Given the description of an element on the screen output the (x, y) to click on. 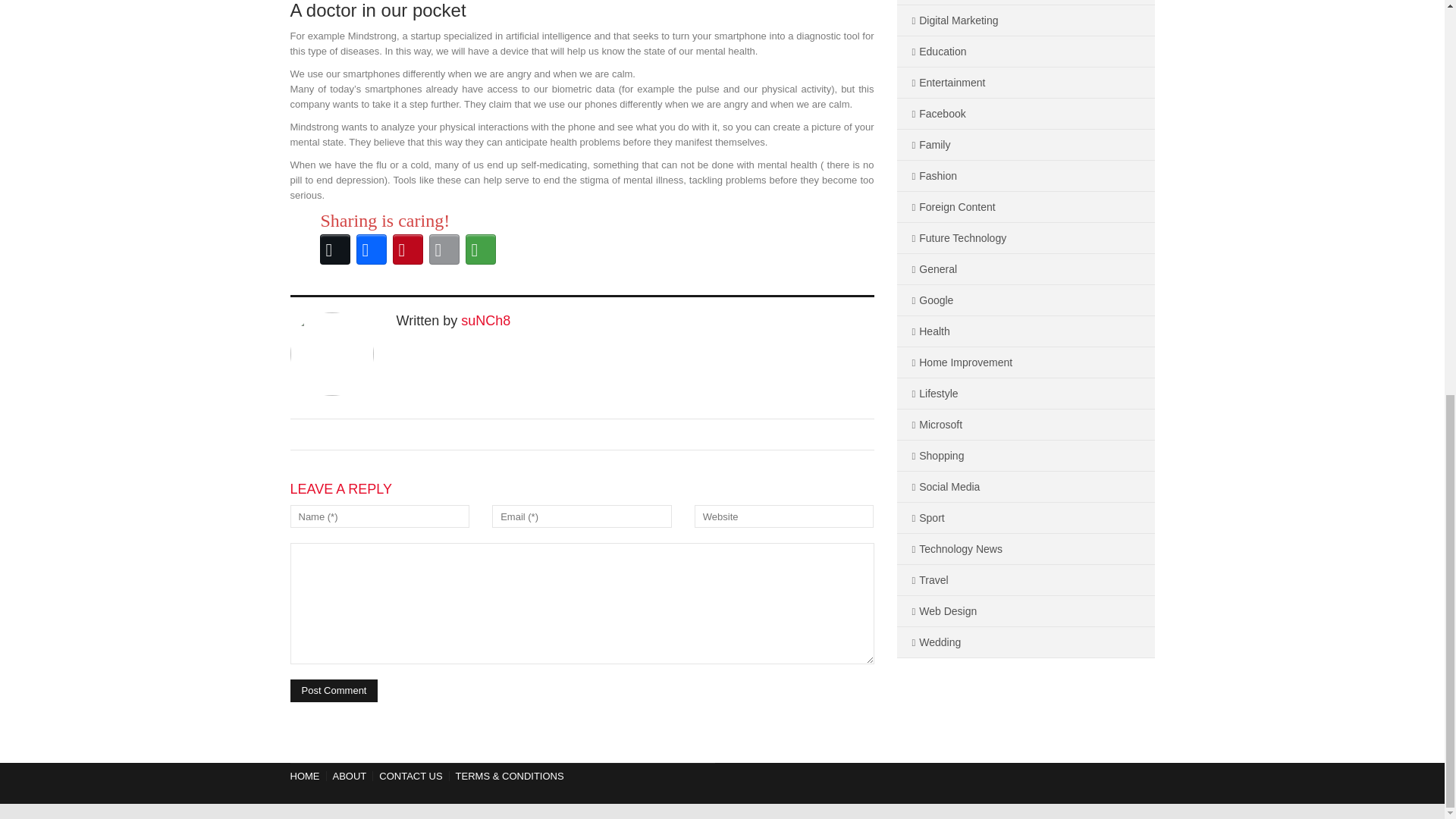
Email This (444, 248)
Pinterest (408, 248)
More Options (481, 248)
Post Comment (333, 690)
Facebook (371, 248)
